Given the description of an element on the screen output the (x, y) to click on. 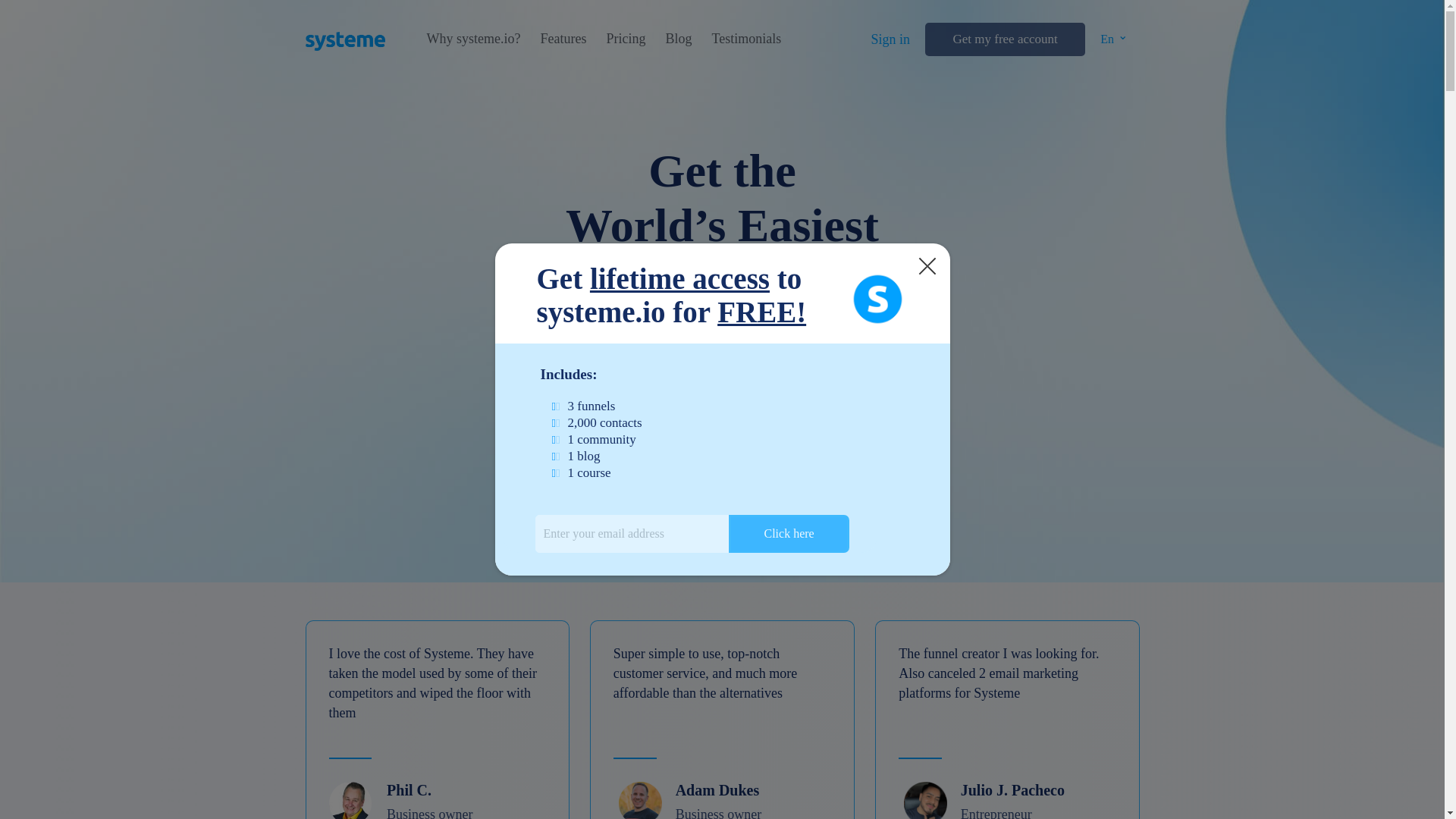
Why systeme.io? (472, 38)
Get my free account (1004, 39)
Pricing (625, 38)
Testimonials (745, 38)
Sign in (890, 39)
Blog (678, 38)
Features (563, 38)
